Given the description of an element on the screen output the (x, y) to click on. 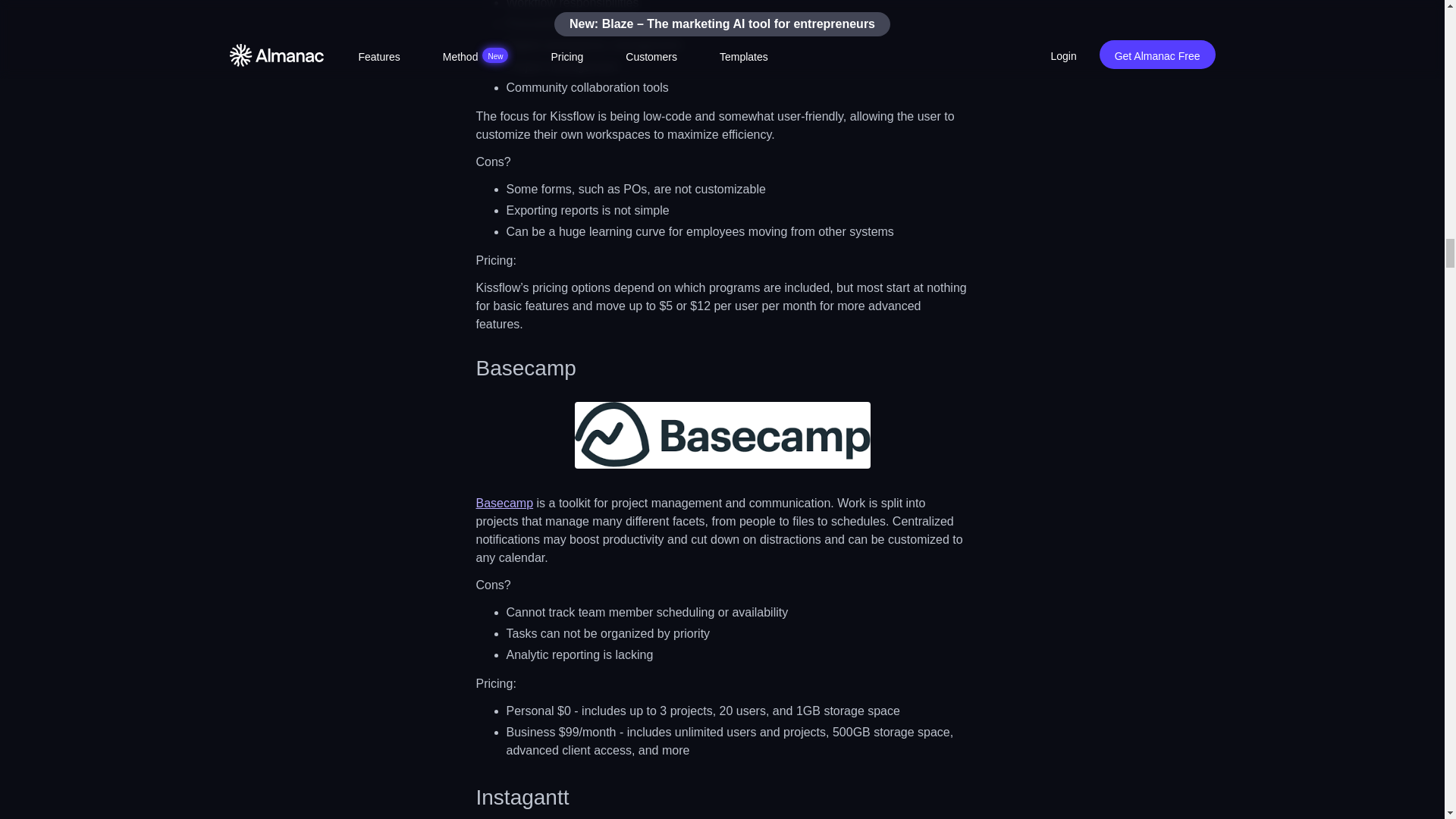
Basecamp (505, 502)
